Given the description of an element on the screen output the (x, y) to click on. 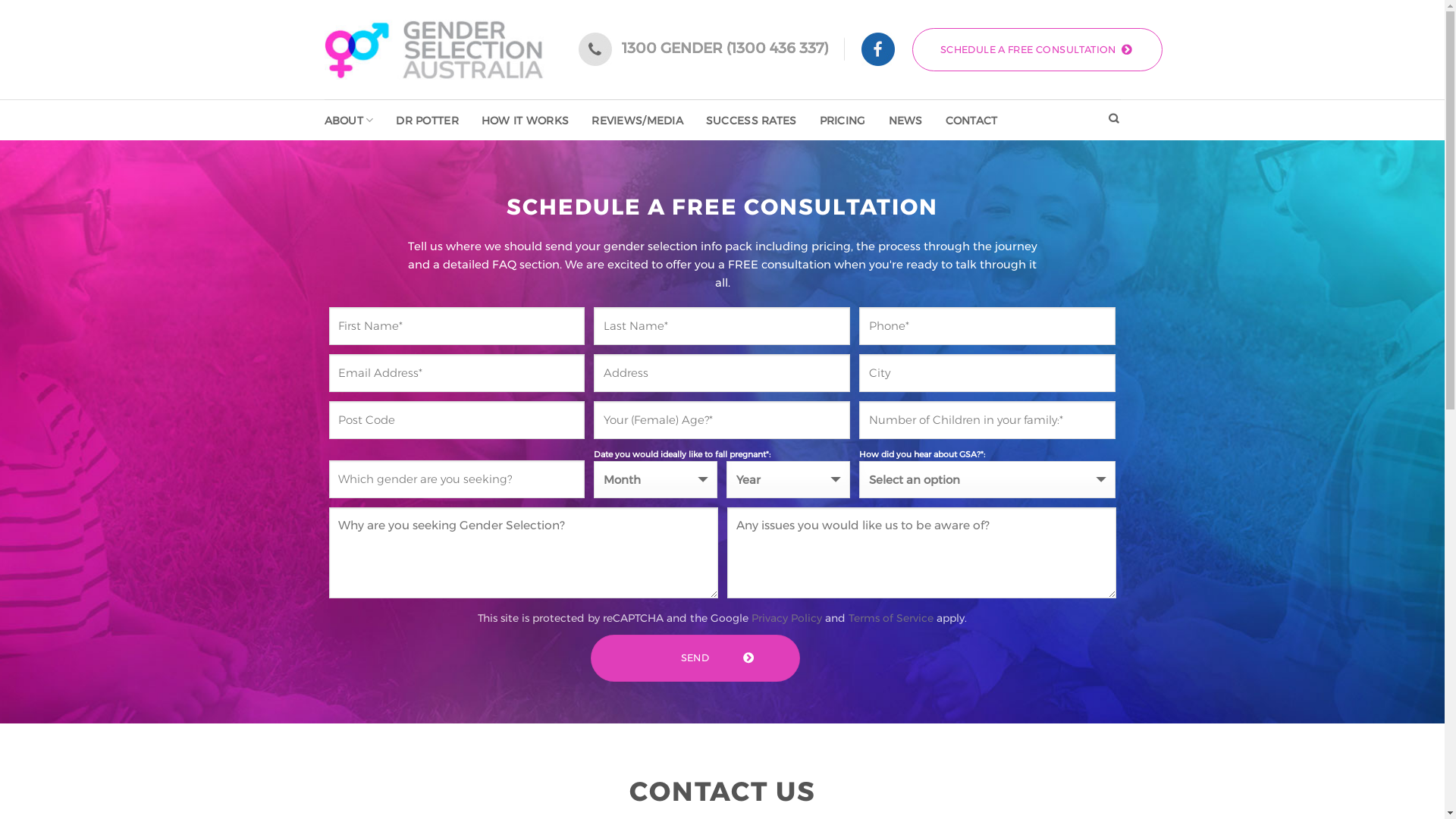
NEWS Element type: text (905, 120)
PRICING Element type: text (842, 120)
SCHEDULE A FREE CONSULTATION Element type: text (1037, 49)
CONTACT Element type: text (971, 120)
Send Element type: text (694, 657)
SUCCESS RATES Element type: text (751, 120)
Gender Selection Australia - Sex  Selection & Cost Australia Element type: hover (434, 49)
HOW IT WORKS Element type: text (524, 120)
DR POTTER Element type: text (426, 120)
REVIEWS/MEDIA Element type: text (637, 120)
Privacy Policy Element type: text (786, 617)
Terms of Service Element type: text (890, 617)
1300 GENDER (1300 436 337) Element type: text (724, 47)
ABOUT Element type: text (348, 120)
